Given the description of an element on the screen output the (x, y) to click on. 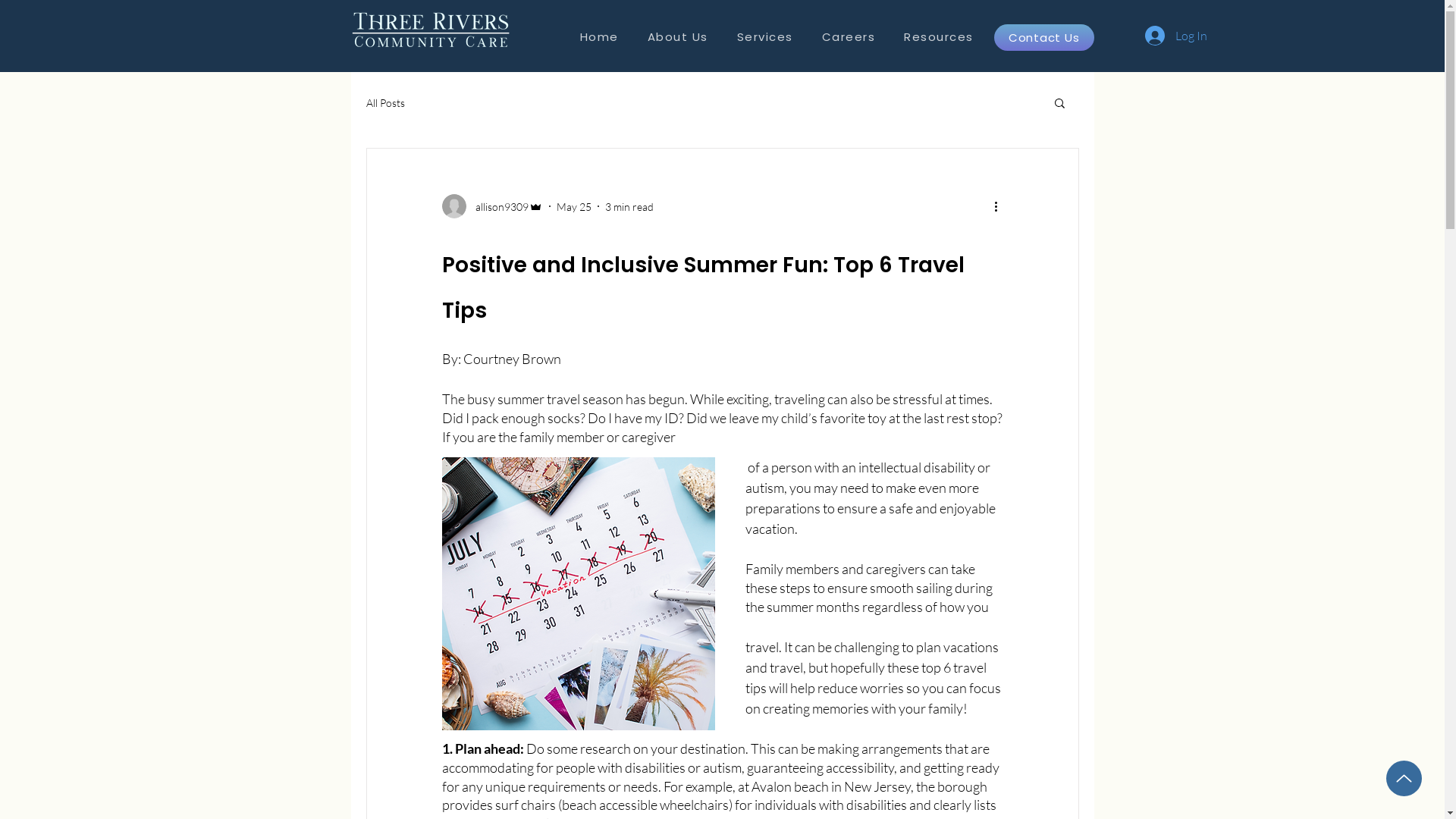
Home Element type: text (599, 37)
Contact Us Element type: text (1043, 37)
All Posts Element type: text (384, 101)
Log In Element type: text (1175, 35)
Services Element type: text (763, 37)
About Us Element type: text (676, 37)
allison9309 Element type: text (491, 206)
Resources Element type: text (938, 37)
Careers Element type: text (847, 37)
